Given the description of an element on the screen output the (x, y) to click on. 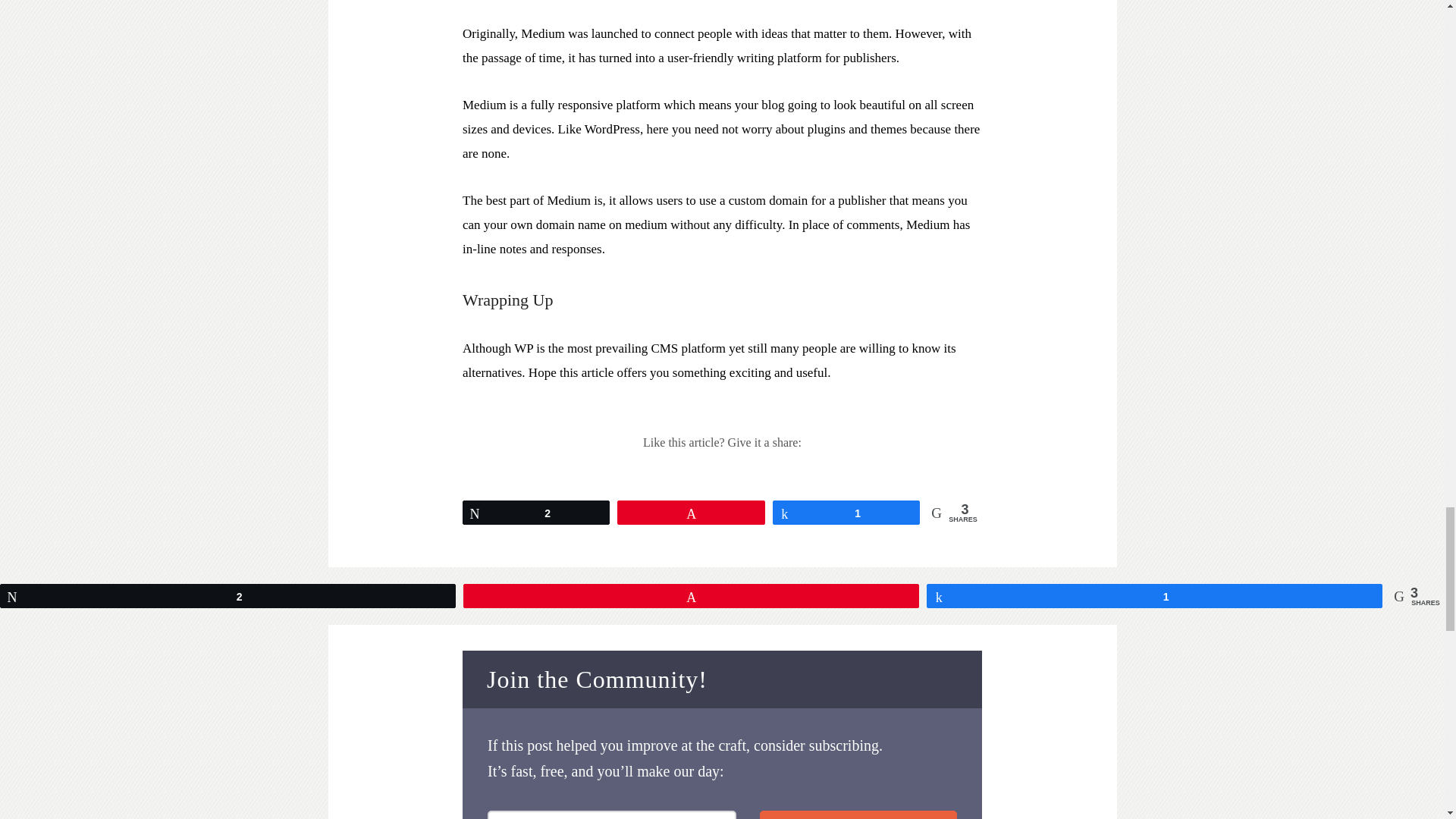
Sign Up (858, 814)
